Given the description of an element on the screen output the (x, y) to click on. 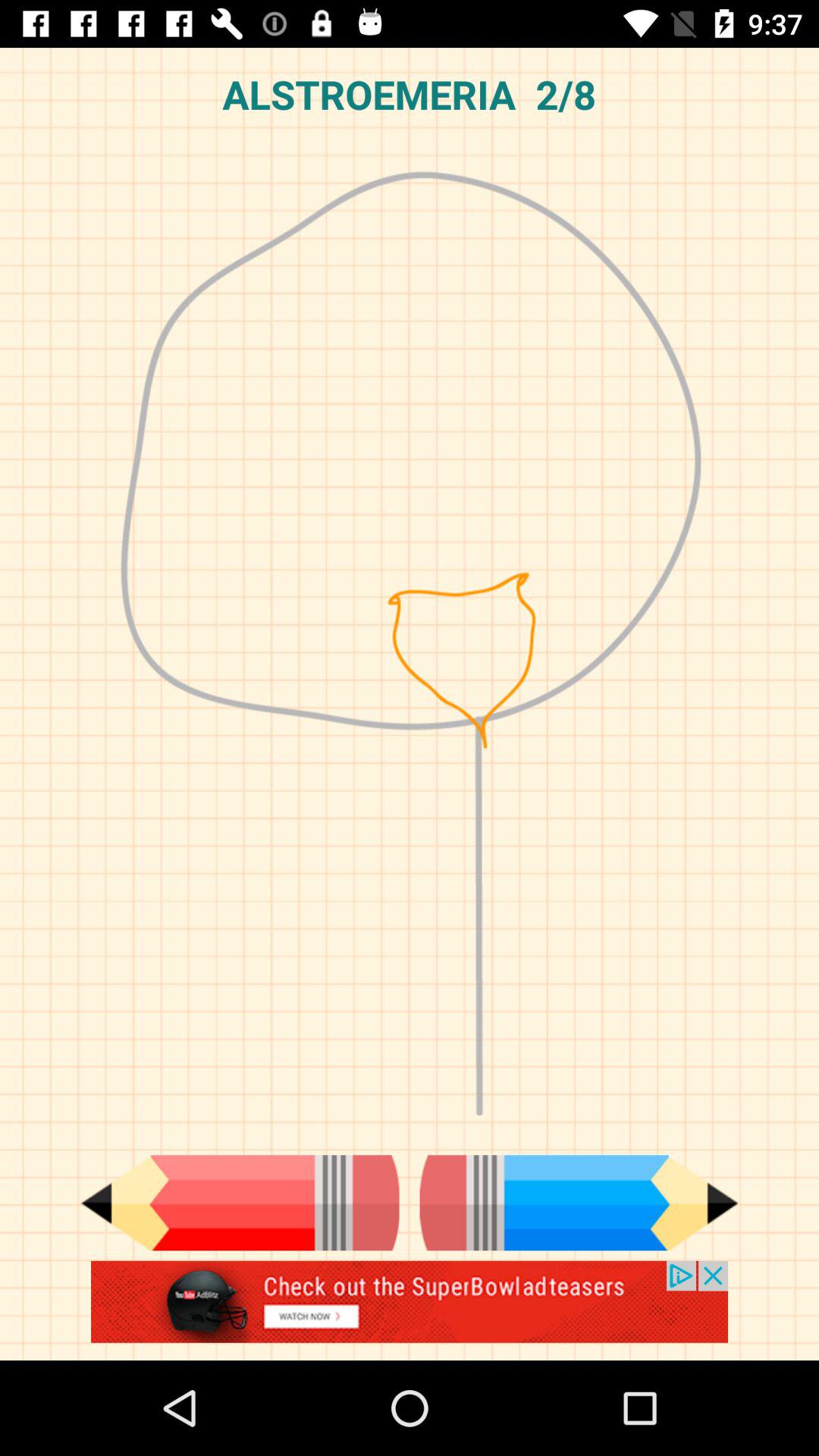
go back (239, 1202)
